Given the description of an element on the screen output the (x, y) to click on. 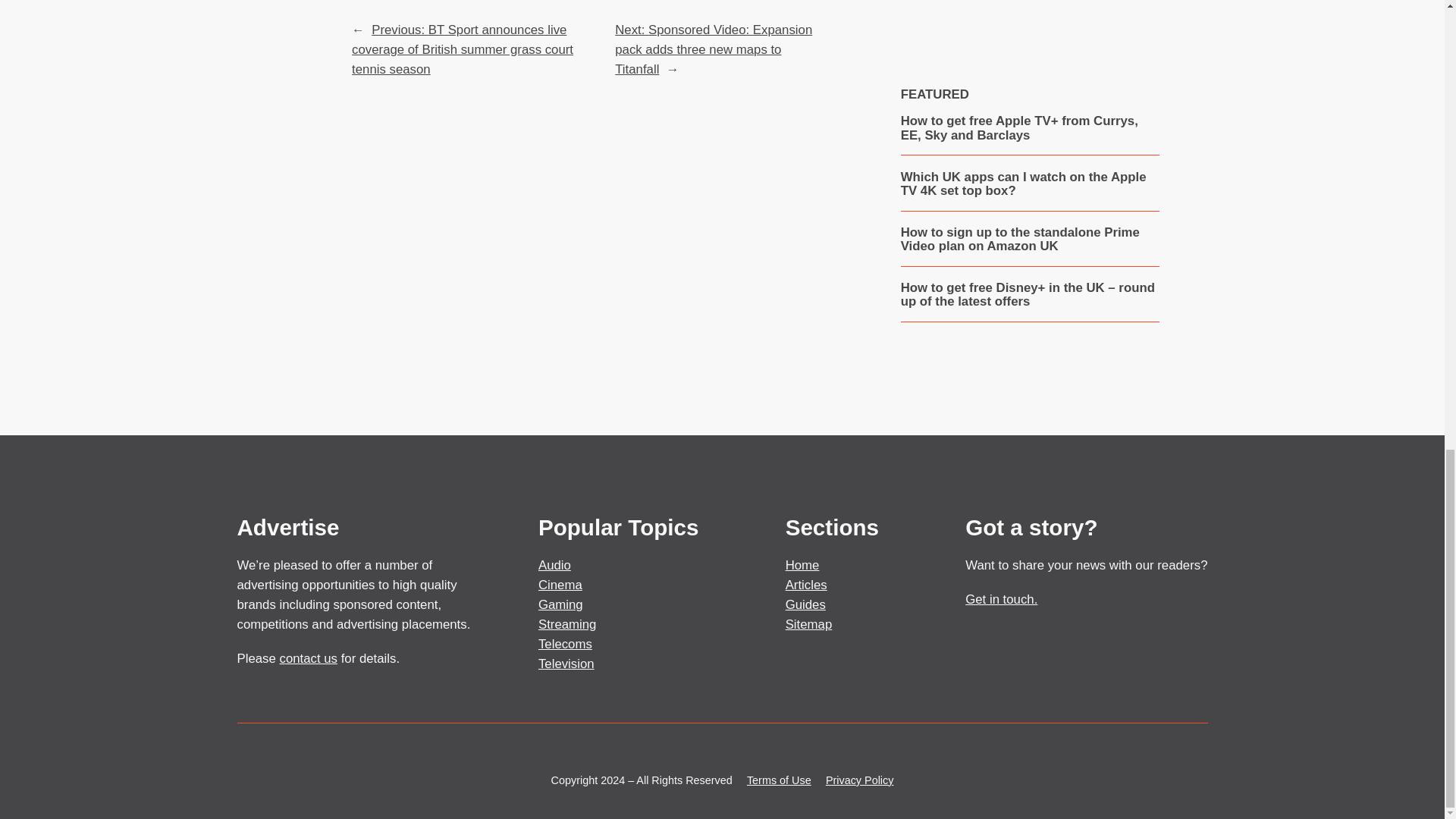
Sitemap (809, 624)
Advertisement (1028, 14)
Which UK apps can I watch on the Apple TV 4K set top box? (1029, 184)
Privacy Policy (859, 779)
Telecoms (565, 644)
Terms of Use (778, 779)
Get in touch. (1000, 599)
Gaming (560, 604)
